Given the description of an element on the screen output the (x, y) to click on. 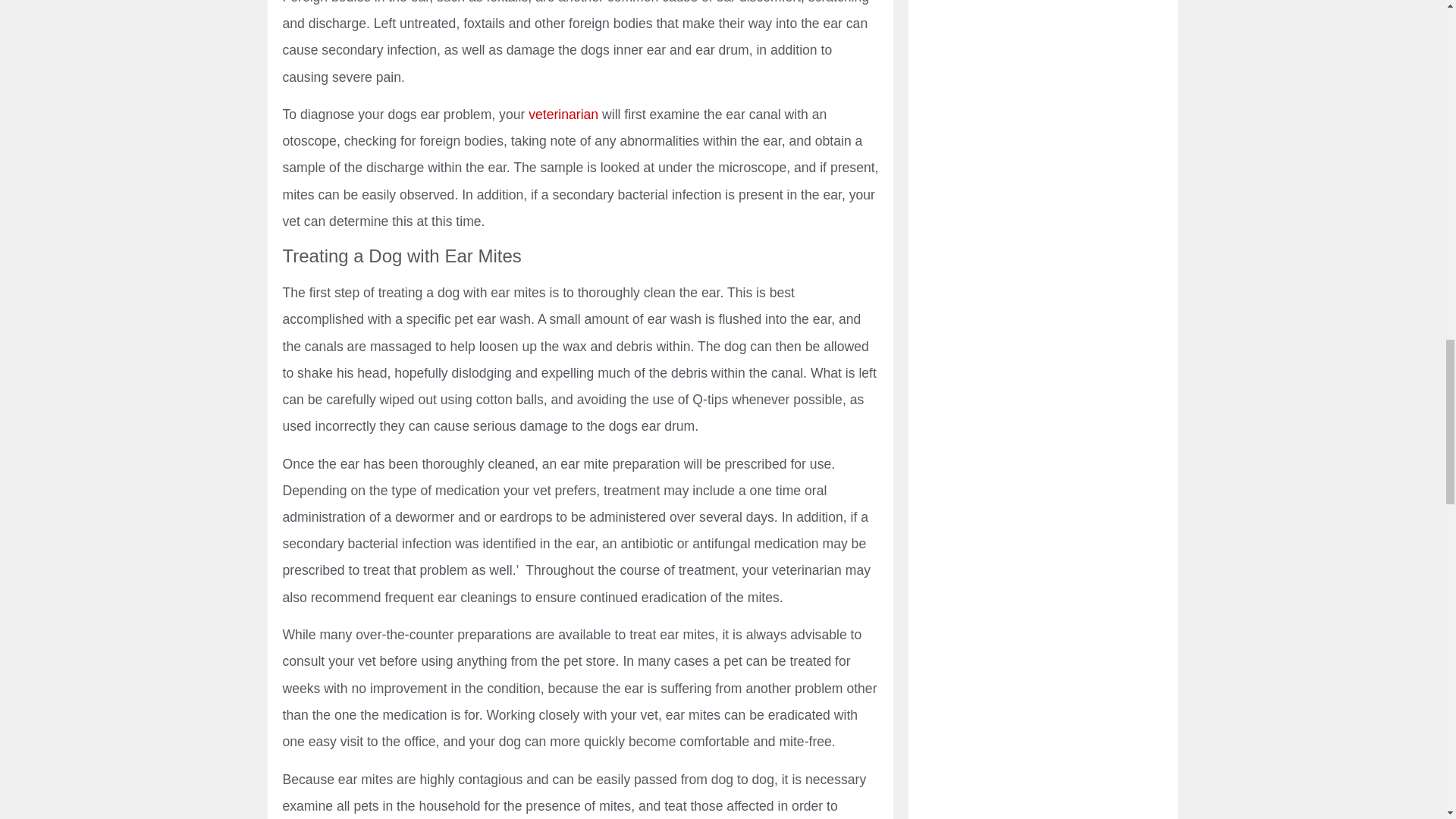
Choosing a Veterinarian (563, 114)
